Given the description of an element on the screen output the (x, y) to click on. 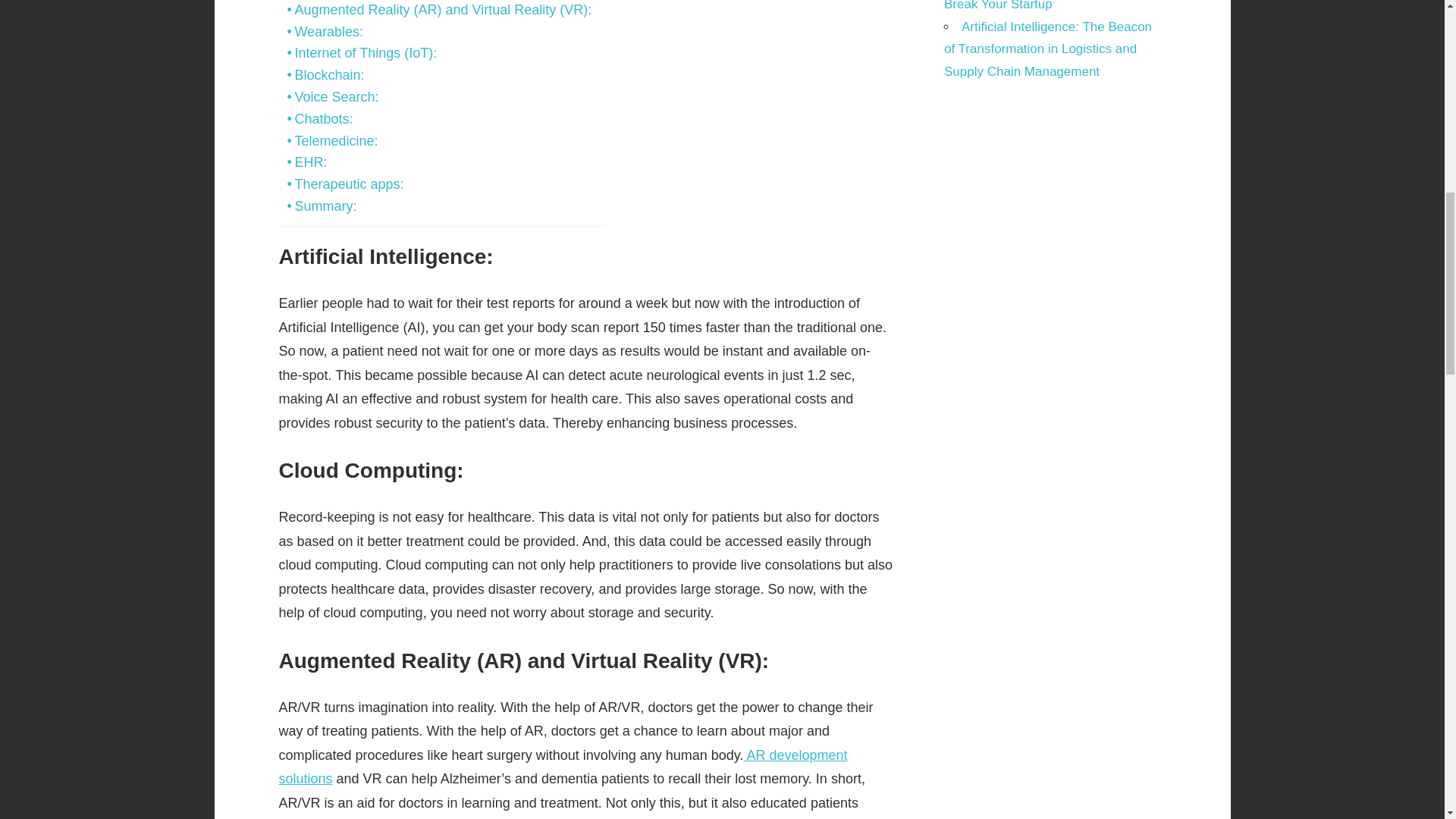
Voice Search: (332, 97)
Blockchain: (325, 75)
Wearables: (324, 32)
Summary: (321, 206)
AR development solutions (563, 767)
Blockchain: (325, 75)
Telemedicine: (331, 141)
EHR: (306, 162)
Chatbots: (319, 119)
Chatbots: (319, 119)
